Given the description of an element on the screen output the (x, y) to click on. 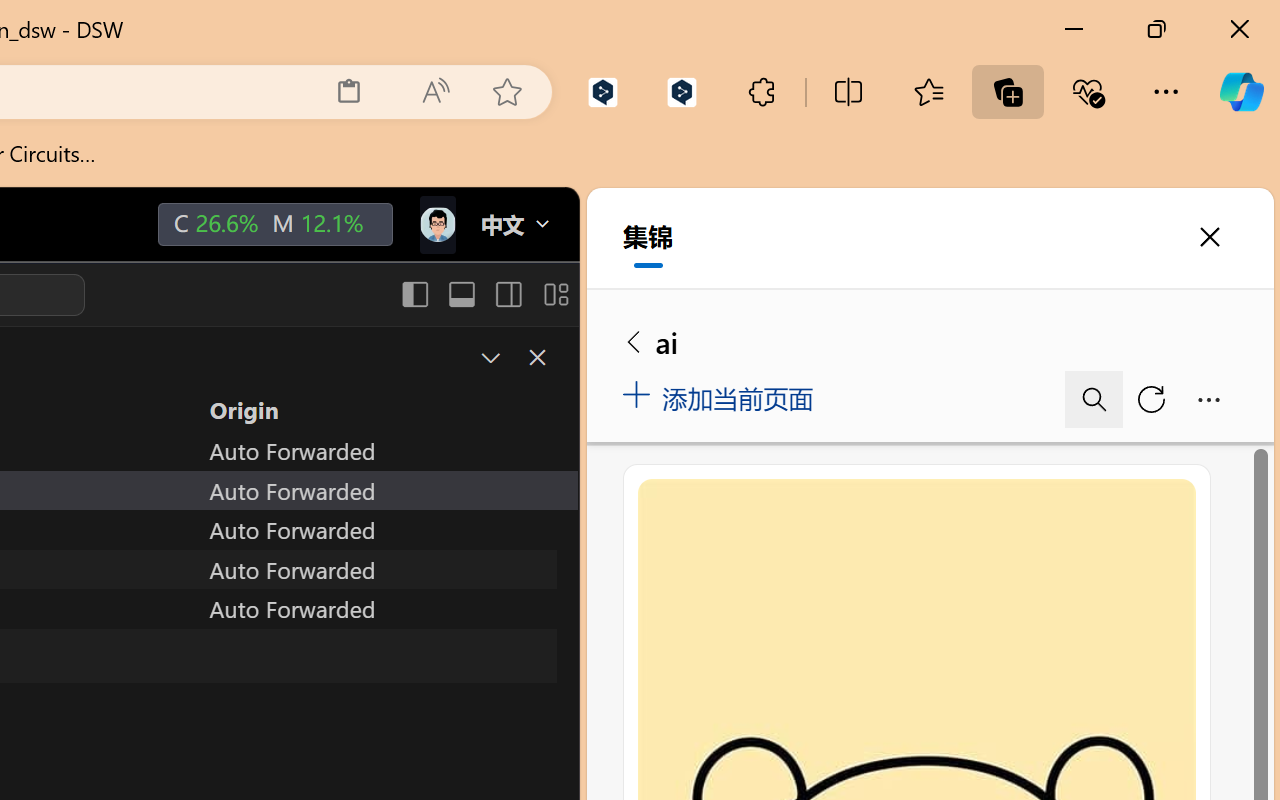
Close Panel (535, 357)
Toggle Panel (Ctrl+J) (461, 294)
icon (436, 220)
Class: next-menu next-hoz widgets--iconMenu--BFkiHRM (436, 225)
